Given the description of an element on the screen output the (x, y) to click on. 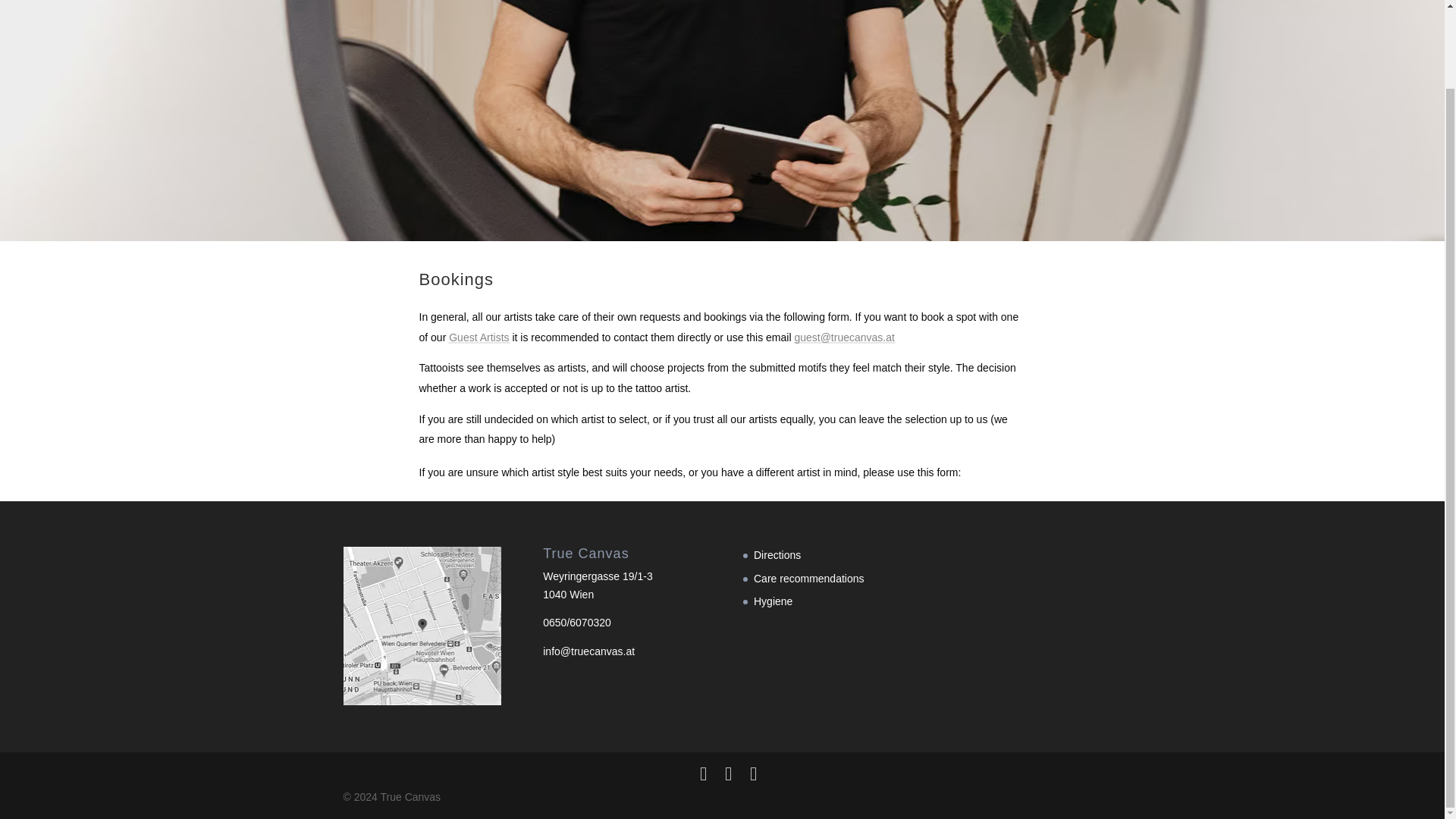
Directions (777, 554)
Hygiene (773, 601)
Guest Artists (478, 337)
Care recommendations (809, 578)
